Given the description of an element on the screen output the (x, y) to click on. 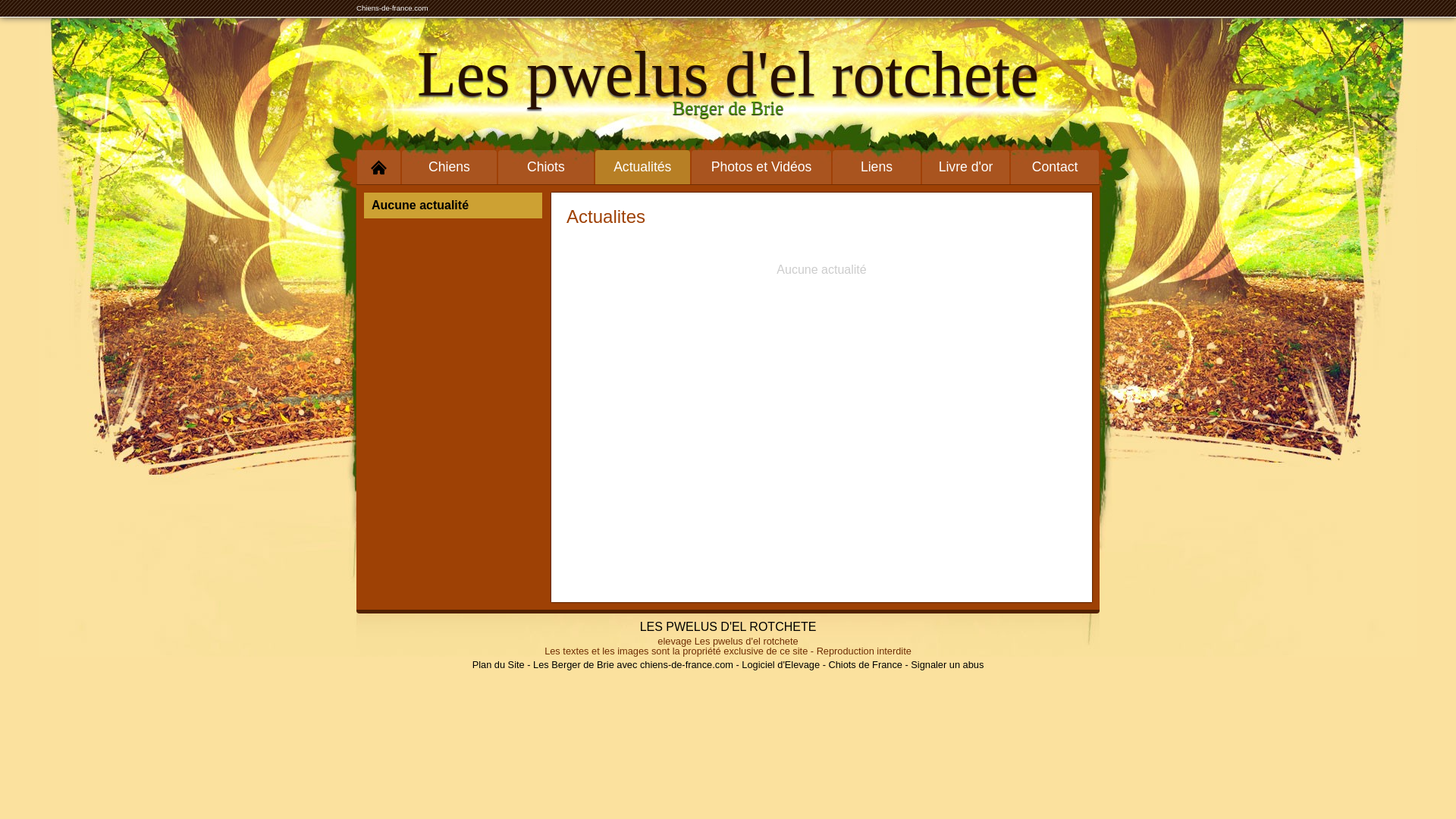
Logiciel d'Elevage Element type: text (780, 664)
Chiots Element type: text (545, 167)
Les pwelus d'el rotchete Element type: text (727, 73)
Les Berger de Brie avec chiens-de-france.com Element type: text (633, 664)
Liens Element type: text (876, 167)
Chiens Element type: text (448, 167)
Chiots de France Element type: text (864, 664)
Chiens-de-france.com Element type: text (391, 8)
LES PWELUS D'EL ROTCHETE Element type: text (728, 626)
Signaler un abus Element type: text (946, 664)
Plan du Site Element type: text (498, 664)
Accueil Element type: hover (378, 167)
Contact Element type: text (1054, 167)
Livre d'or Element type: text (966, 167)
